Given the description of an element on the screen output the (x, y) to click on. 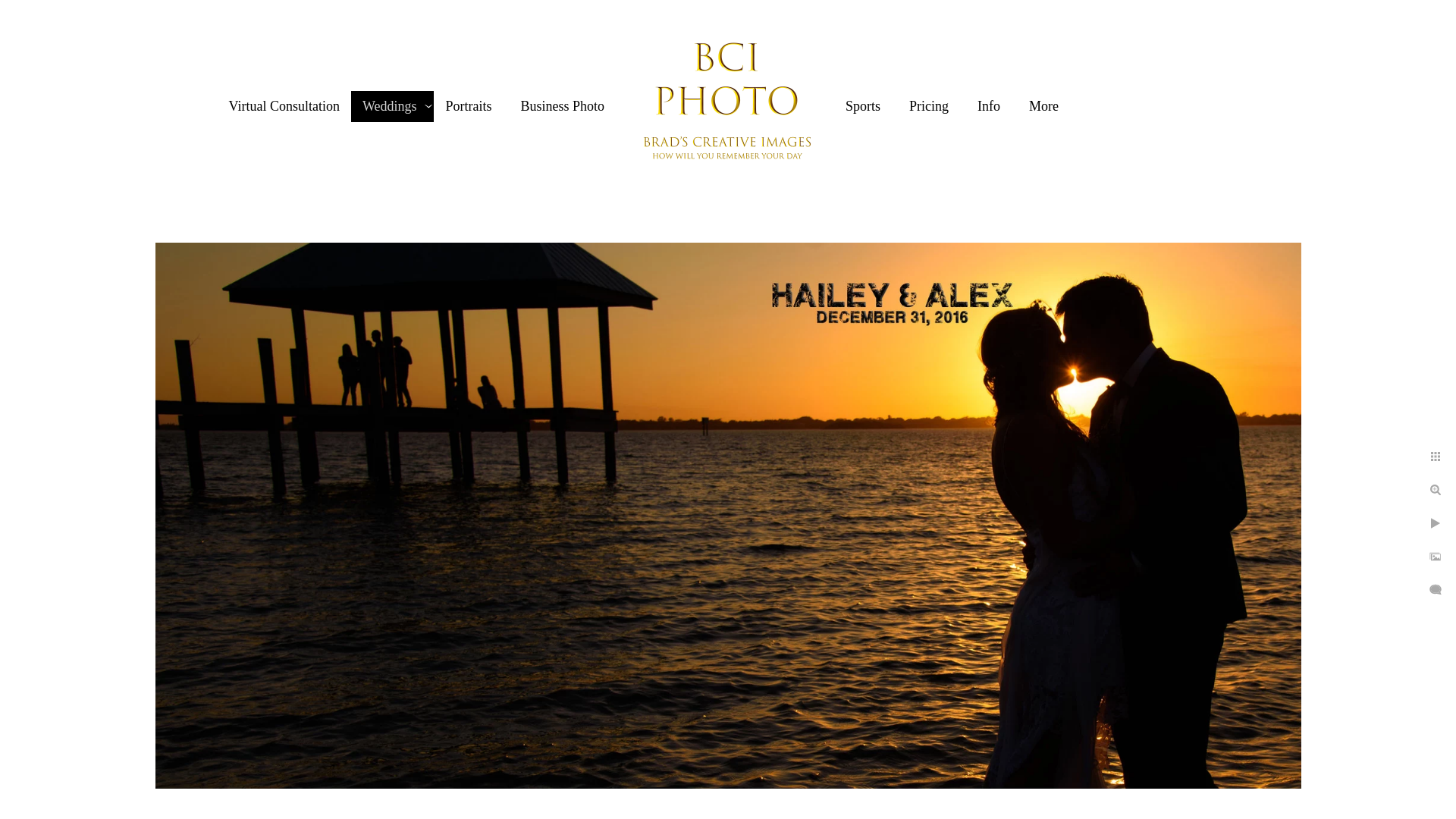
Virtual Consultation (283, 105)
Sports (862, 105)
More (1043, 105)
Weddings (389, 105)
Business Photo (561, 105)
Info (988, 105)
Pricing (928, 105)
Portraits (468, 105)
